Given the description of an element on the screen output the (x, y) to click on. 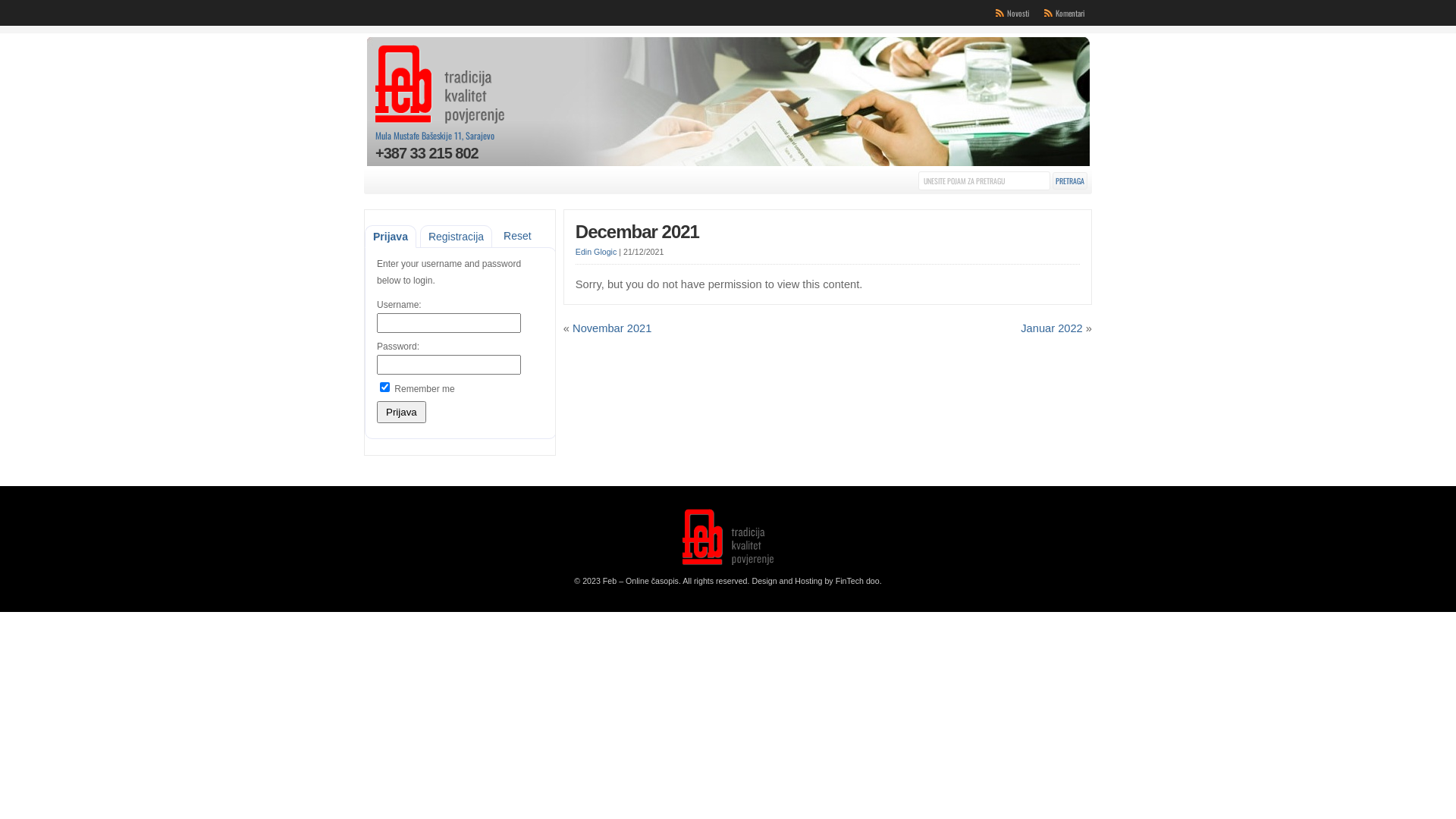
Prijava Element type: text (401, 412)
Reset Element type: text (517, 235)
Registracija Element type: text (455, 236)
Edin Glogic Element type: text (596, 251)
FinTech doo Element type: text (857, 580)
Decembar 2021 Element type: text (637, 231)
Novosti Element type: text (1017, 12)
Januar 2022 Element type: text (1051, 328)
Komentari Element type: text (1070, 12)
Prijava Element type: text (390, 236)
pretraga Element type: text (1069, 180)
Novembar 2021 Element type: text (611, 328)
